Given the description of an element on the screen output the (x, y) to click on. 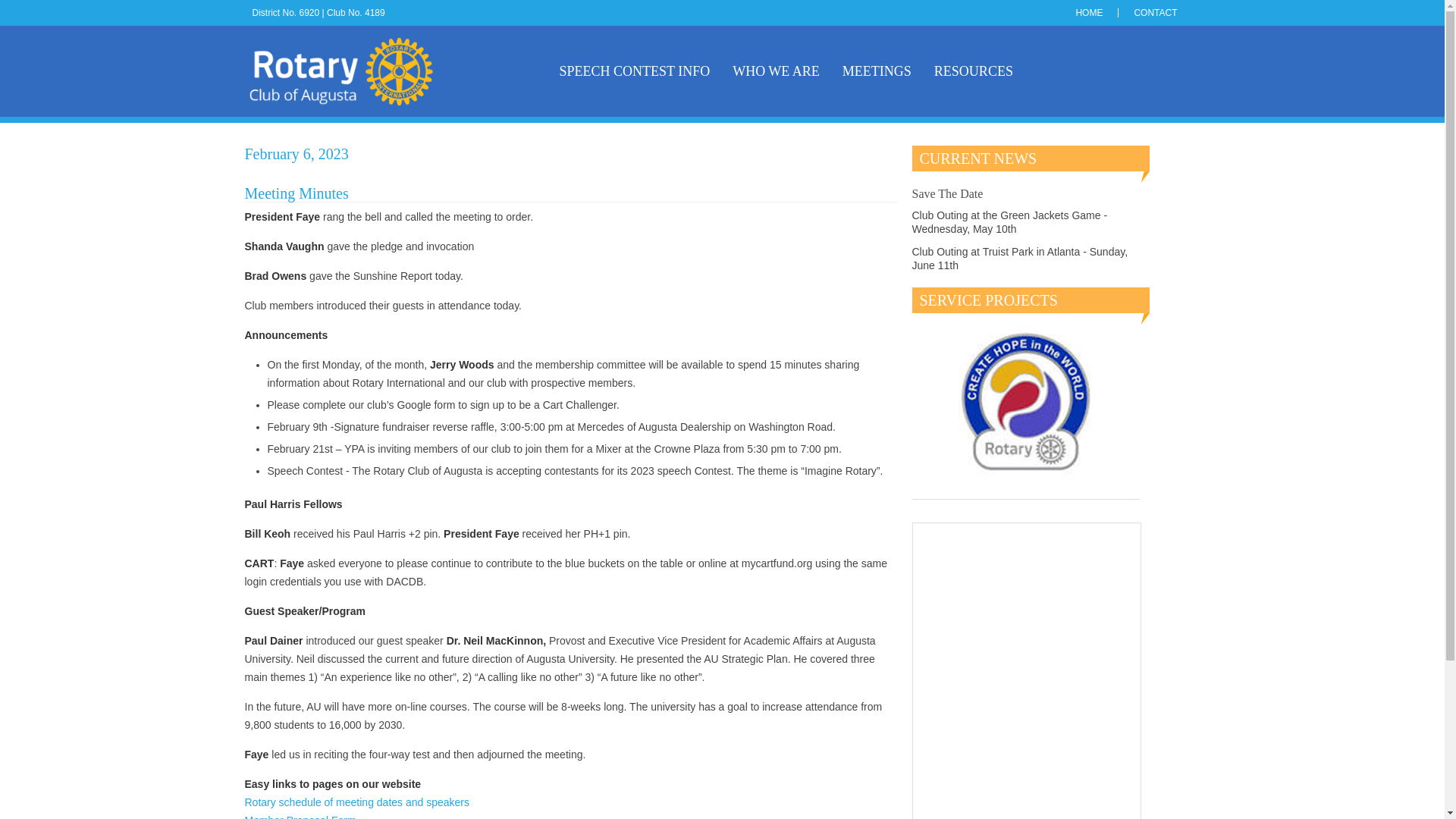
Rotary Club of Augusta (357, 70)
HOME (1088, 12)
Rotary schedule of meeting dates and speakers (356, 802)
NEW MEMBERS (609, 162)
RESOURCES (974, 71)
SPEECH CONTEST INFO (633, 71)
MEETINGS (877, 71)
Member Proposal Form (299, 816)
WHO WE ARE (775, 71)
CONTACT (1155, 12)
